Given the description of an element on the screen output the (x, y) to click on. 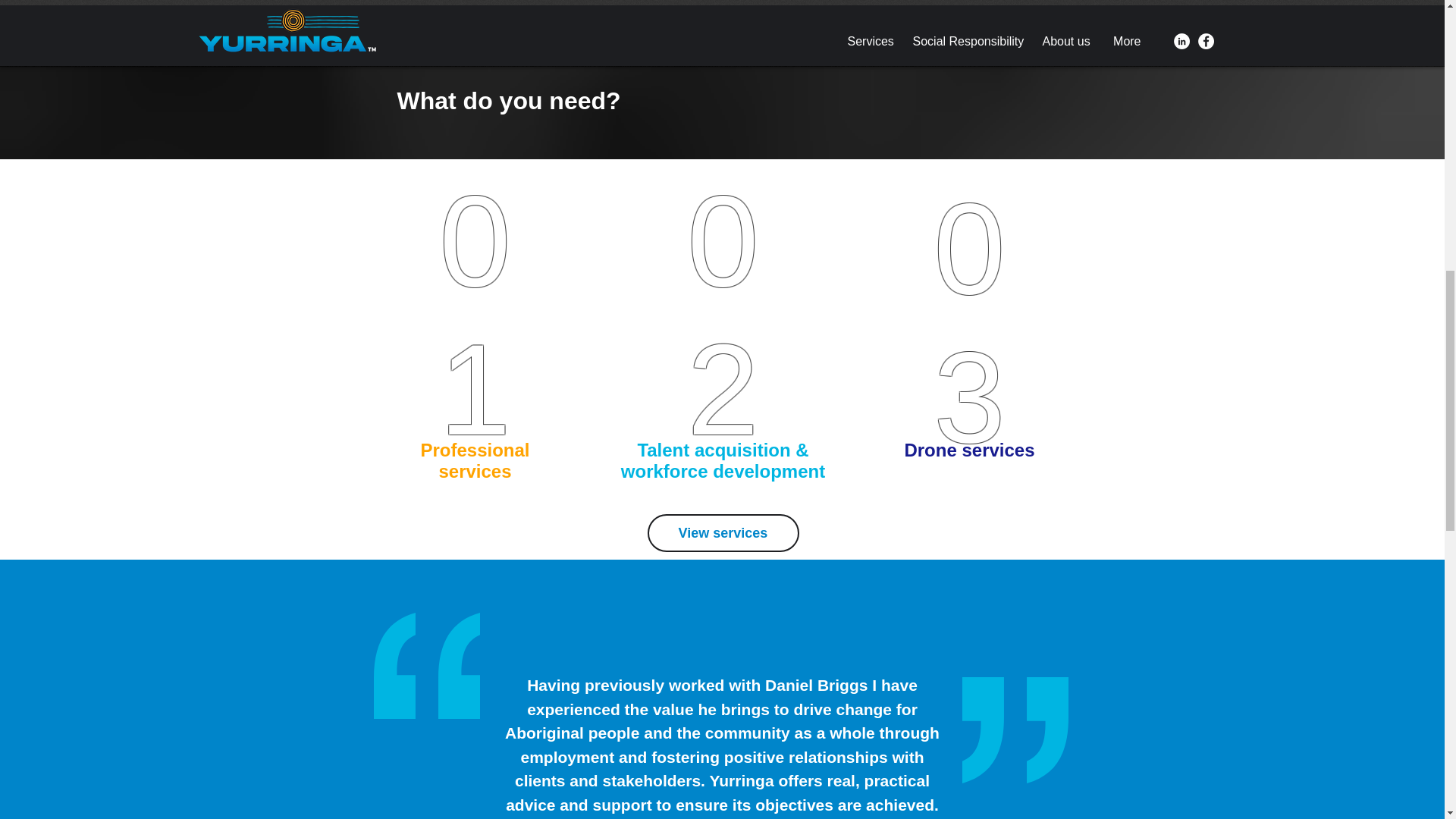
Drone services (968, 449)
Professional services (474, 460)
View services (723, 533)
